Given the description of an element on the screen output the (x, y) to click on. 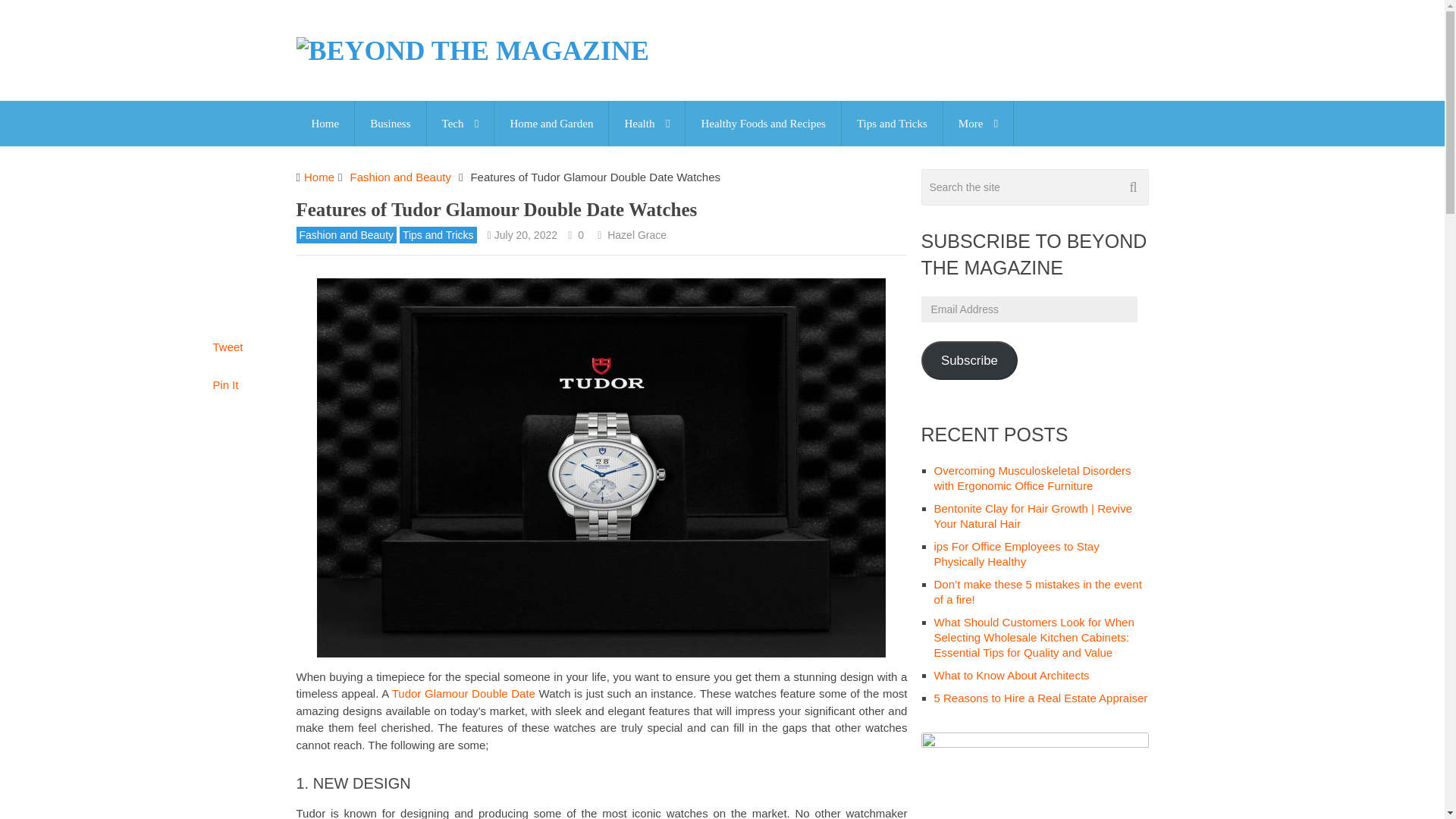
Tech (460, 123)
Health (646, 123)
Healthy Foods and Recipes (763, 123)
Posts by Hazel Grace (636, 234)
More (978, 123)
Home and Garden (551, 123)
Tips and Tricks (891, 123)
Home (324, 123)
View all posts in Fashion and Beauty (345, 234)
Business (390, 123)
View all posts in Tips and Tricks (437, 234)
